Given the description of an element on the screen output the (x, y) to click on. 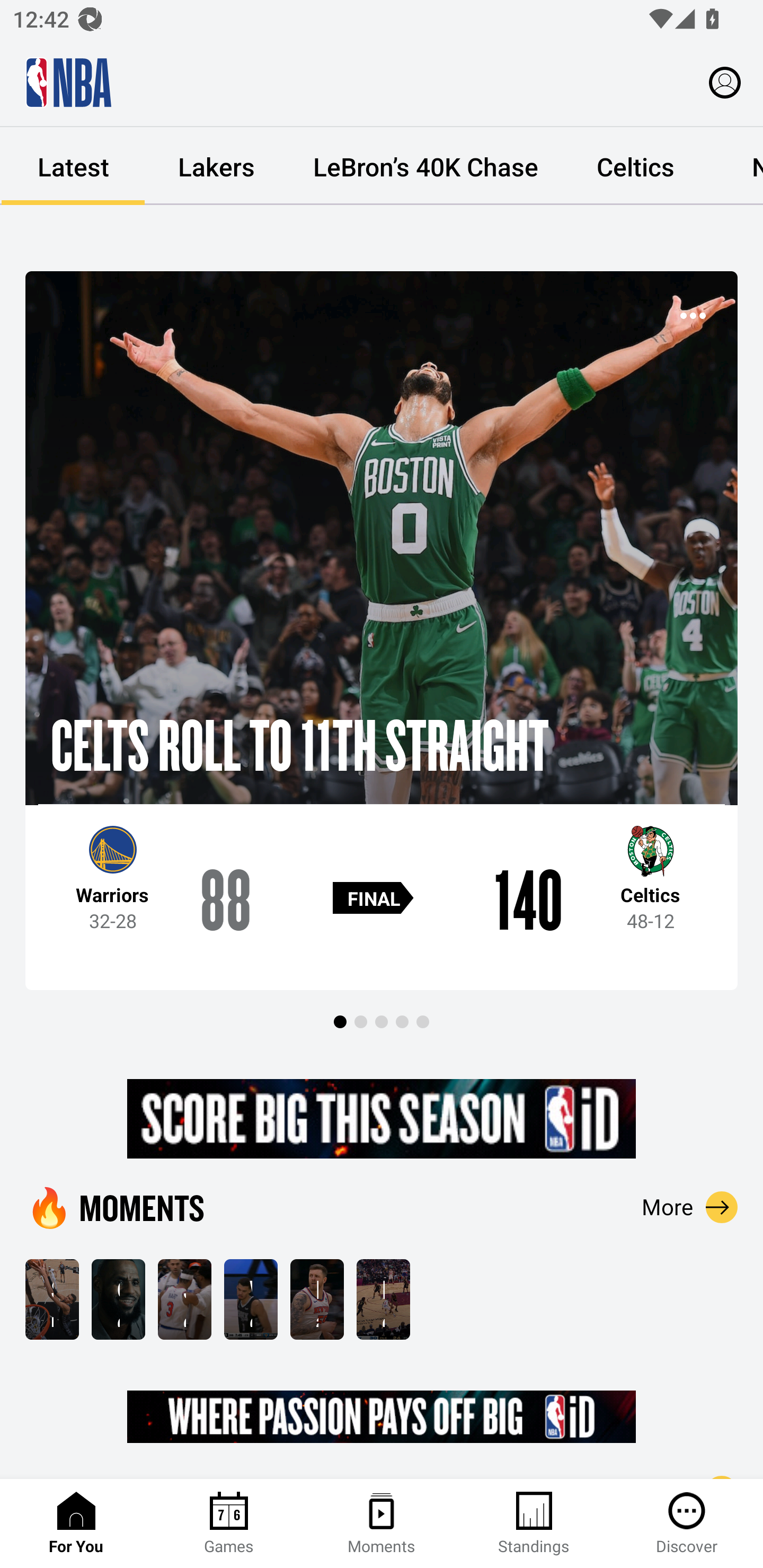
Profile (724, 81)
Lakers (215, 166)
LeBron’s 40K Chase (425, 166)
Celtics (634, 166)
More (689, 1207)
Sunday's Top Plays In 30 Seconds ⏱ (51, 1299)
Hartenstein Drops The Hammer 🔨 (317, 1299)
Games (228, 1523)
Moments (381, 1523)
Standings (533, 1523)
Discover (686, 1523)
